Given the description of an element on the screen output the (x, y) to click on. 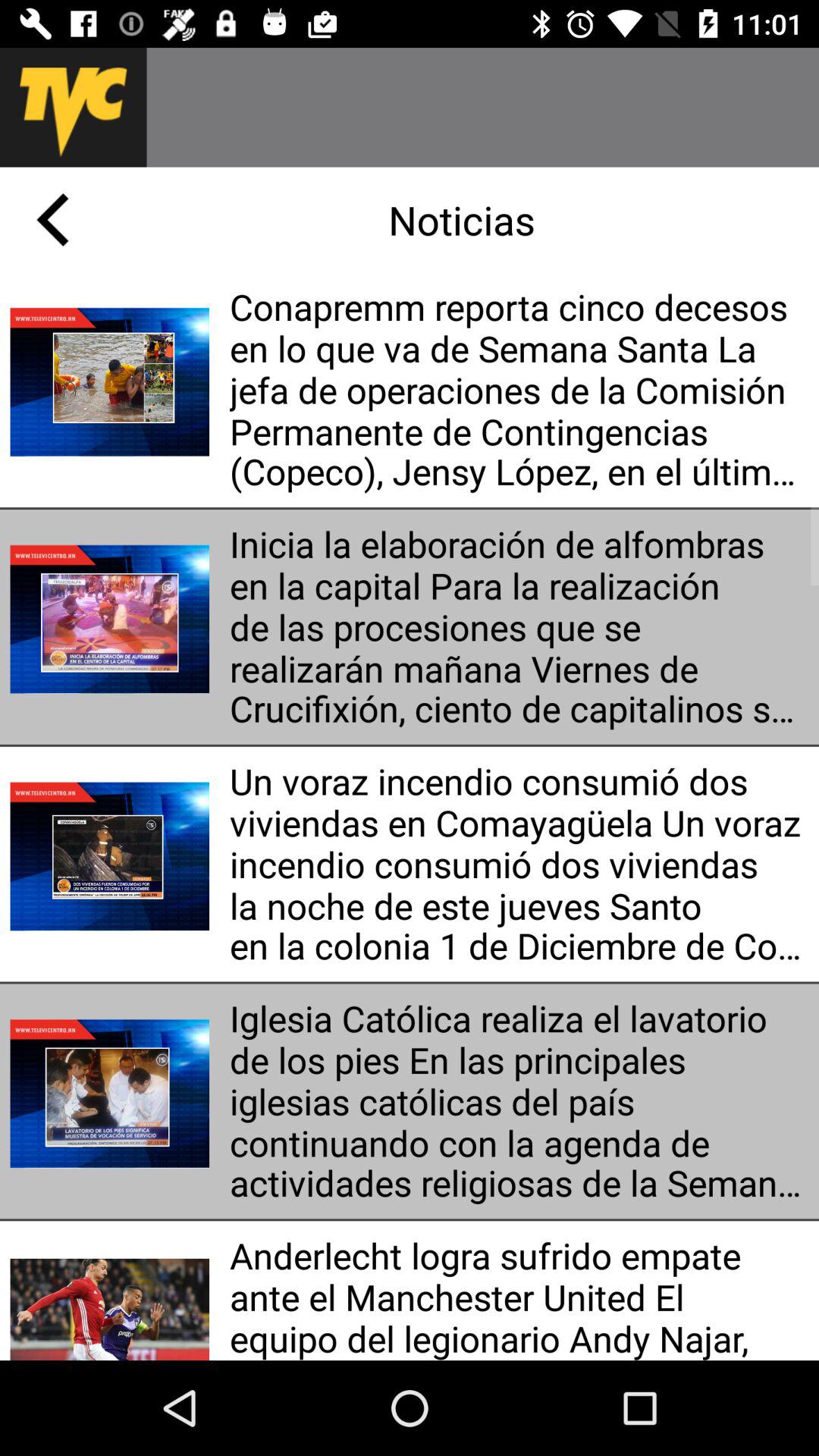
turn off the item above the noticias icon (482, 107)
